Given the description of an element on the screen output the (x, y) to click on. 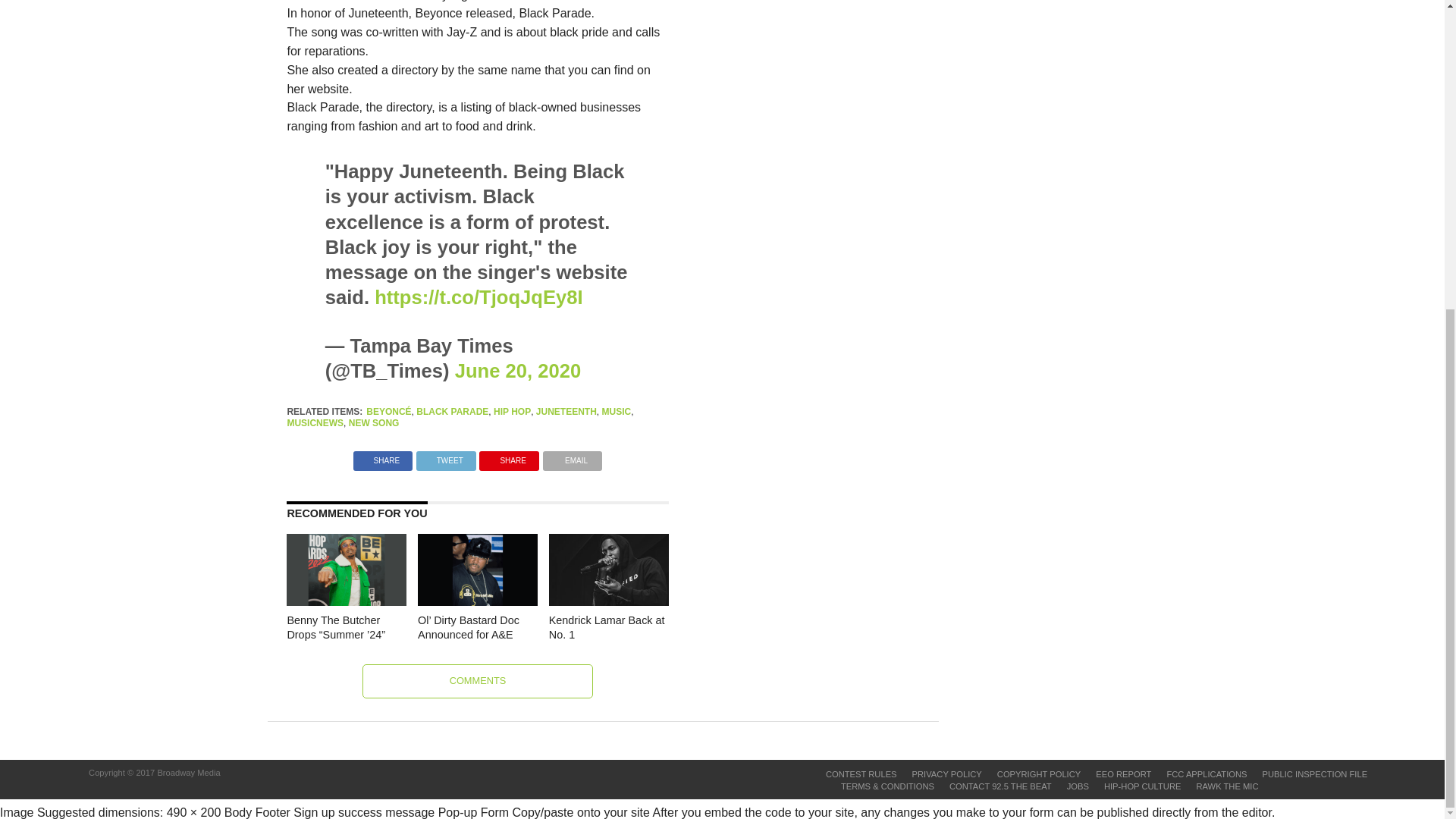
Pin This Post (508, 456)
Share on Facebook (382, 456)
Tweet This Post (446, 456)
